Given the description of an element on the screen output the (x, y) to click on. 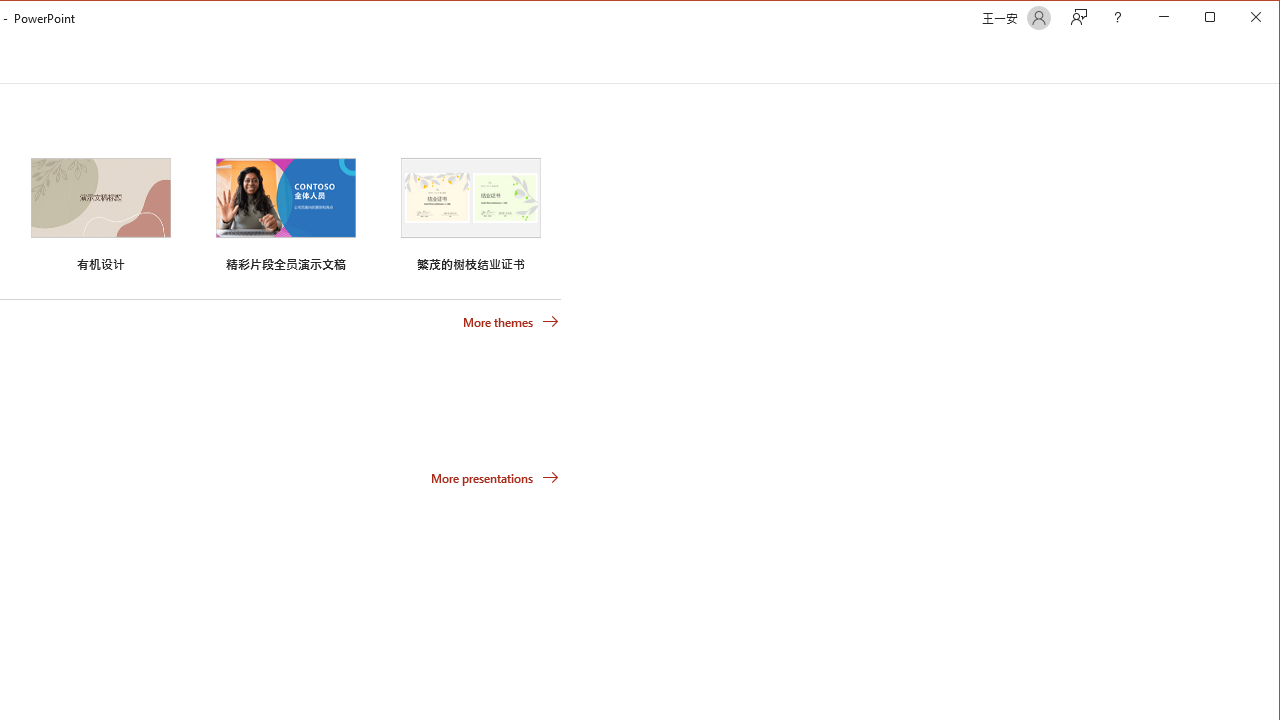
More presentations (494, 478)
Class: NetUIScrollBar (1270, 60)
Maximize (1238, 18)
More themes (510, 321)
